Given the description of an element on the screen output the (x, y) to click on. 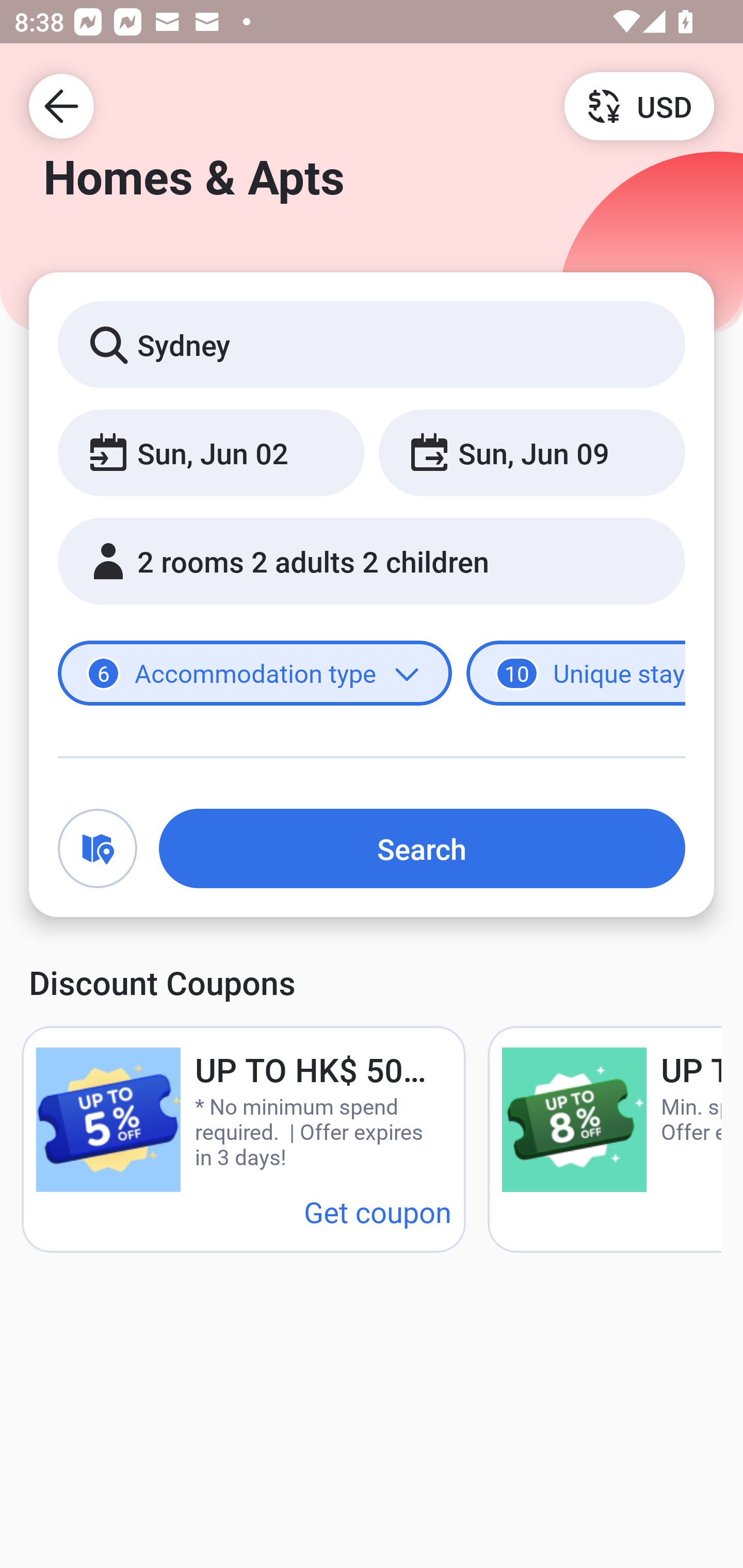
USD (639, 105)
Sydney (371, 344)
Sun, Jun 02 (210, 452)
Sun, Jun 09 (531, 452)
2 rooms 2 adults 2 children (371, 561)
6 Accommodation type (254, 673)
10 Unique stays (575, 673)
Search (422, 848)
Get coupon (377, 1211)
